Given the description of an element on the screen output the (x, y) to click on. 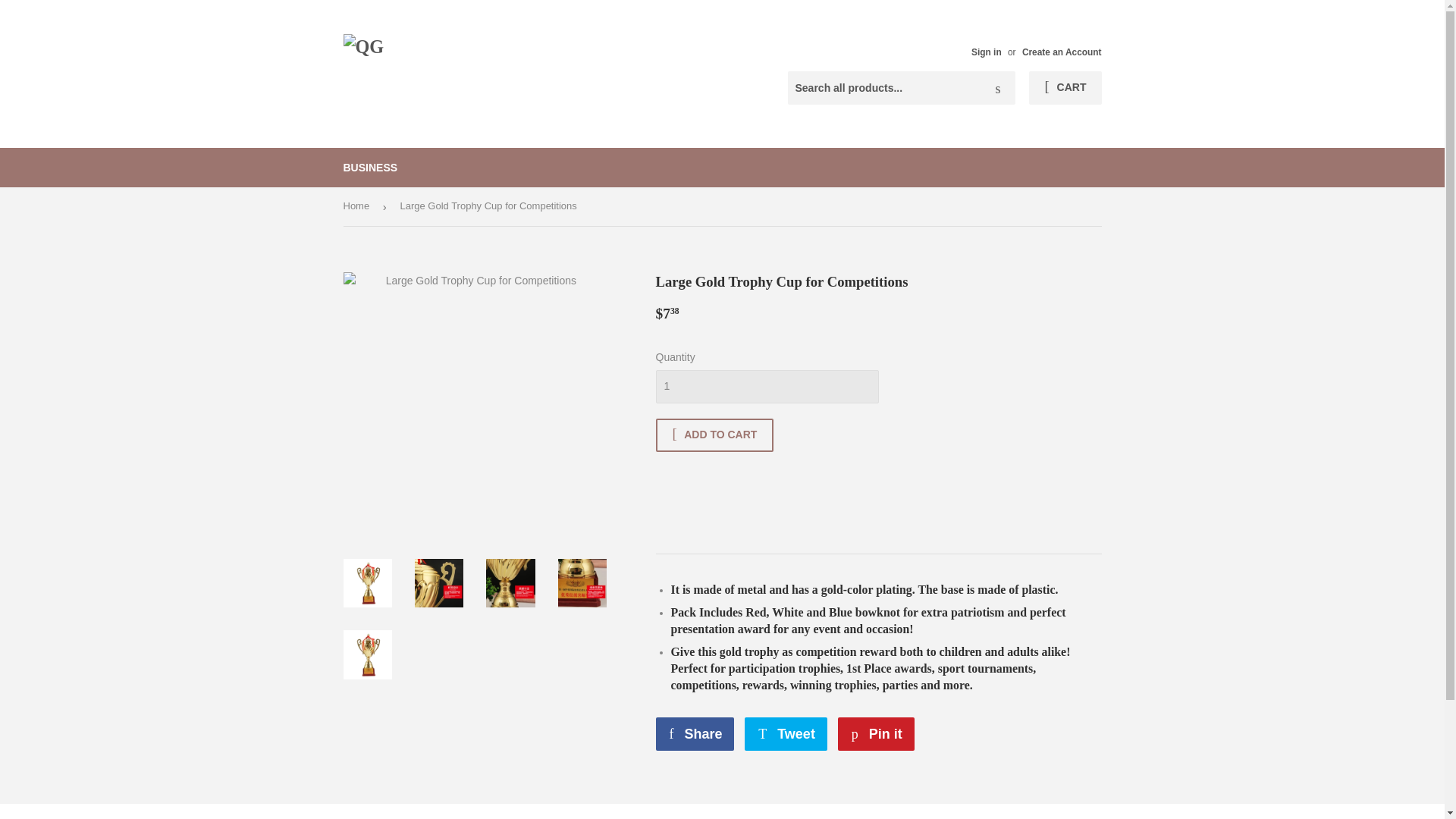
Tweet on Twitter (785, 734)
Sign in (986, 51)
Share on Facebook (785, 734)
Pin on Pinterest (694, 734)
BUSINESS (876, 734)
Search (370, 167)
1 (876, 734)
ADD TO CART (997, 88)
CART (694, 734)
Create an Account (766, 386)
